Given the description of an element on the screen output the (x, y) to click on. 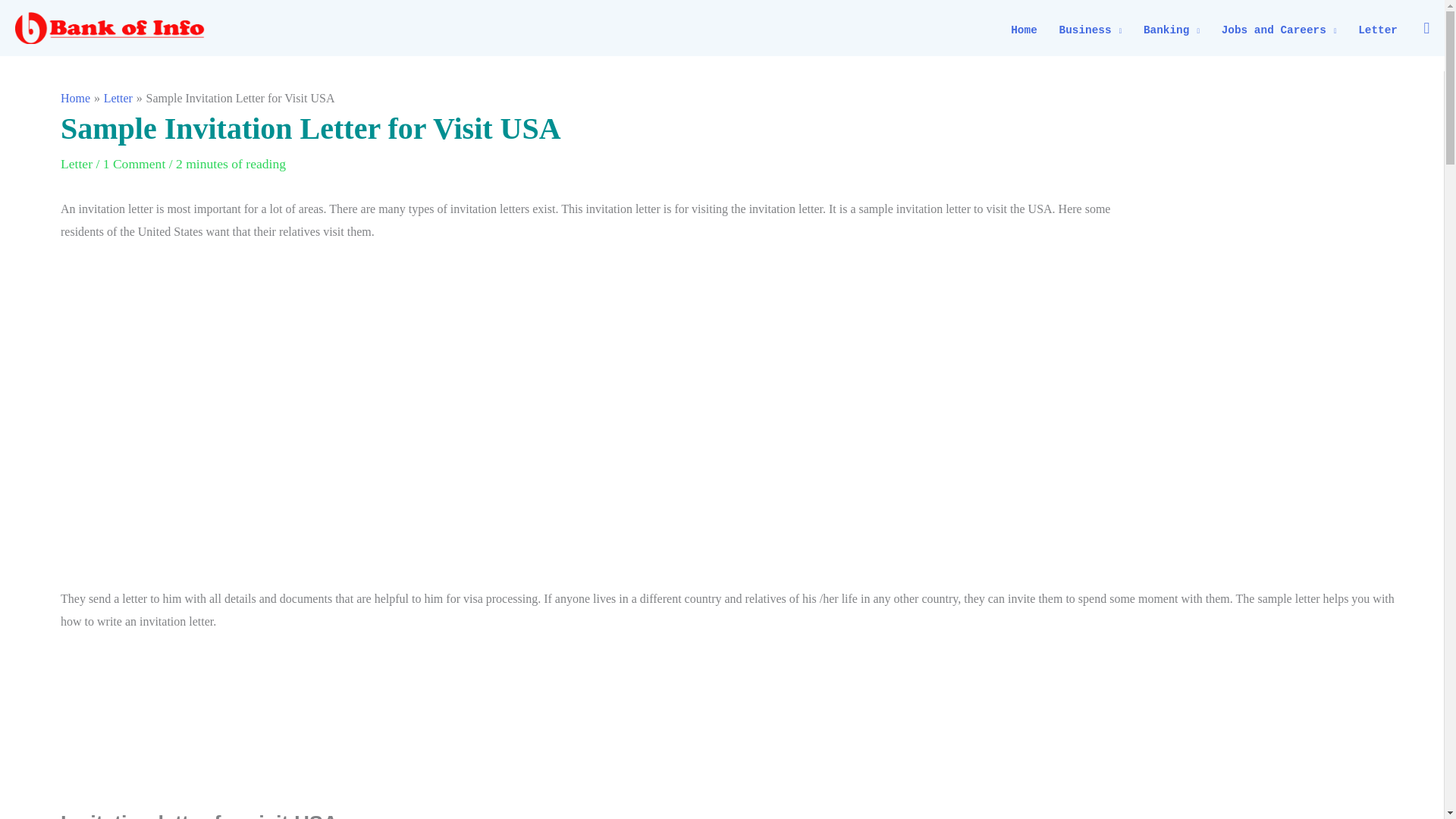
Banking (1171, 30)
Home (1024, 30)
Advertisement (736, 727)
Advertisement (736, 505)
Jobs and Careers (1277, 30)
Letter (1378, 30)
Business (1090, 30)
Advertisement (1285, 309)
